Given the description of an element on the screen output the (x, y) to click on. 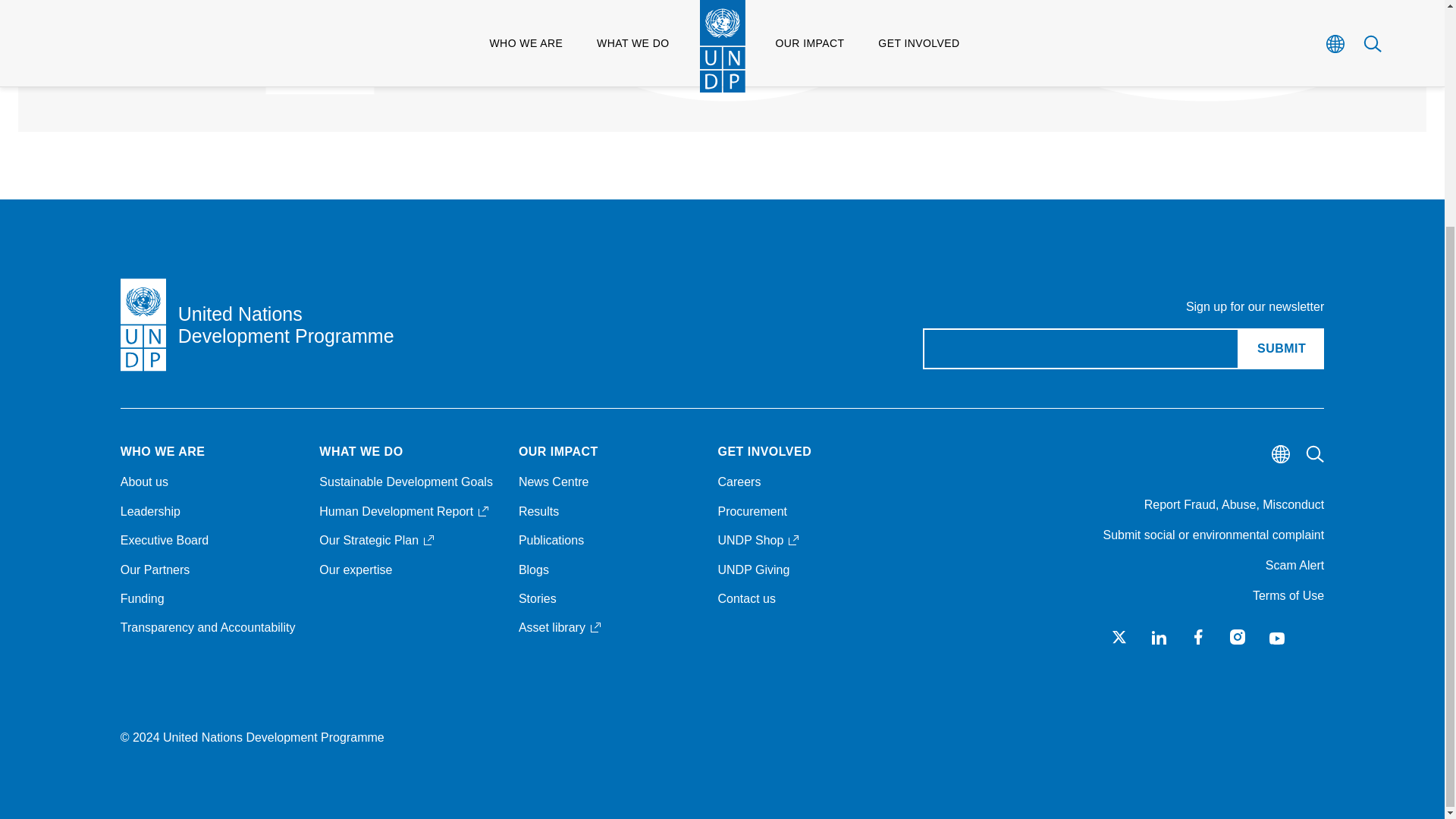
Linkedin (1158, 636)
Facebook (663, 27)
Instagram (1198, 636)
Submit (1237, 636)
X (1281, 348)
YouTube (1119, 636)
